Given the description of an element on the screen output the (x, y) to click on. 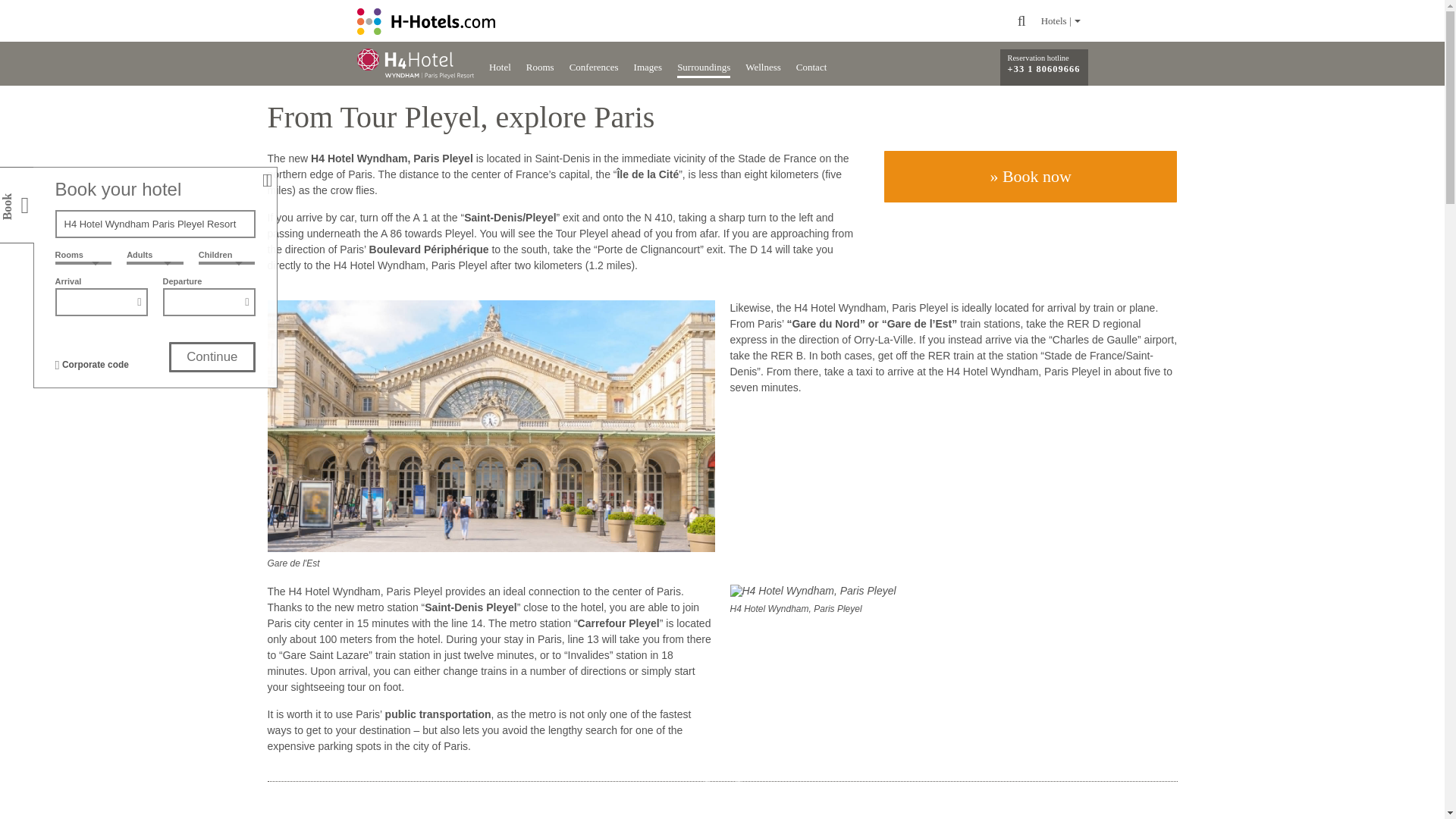
Arrival by train (490, 426)
H4 Hotel Wyndham Paris Pleyel Resort (154, 223)
Home (425, 20)
Scroll down and discover (722, 762)
H4 Hotel Wyndham, Paris Pleyel (812, 590)
H4 Hotel Wyndham Paris Pleyel Resort (414, 63)
